Given the description of an element on the screen output the (x, y) to click on. 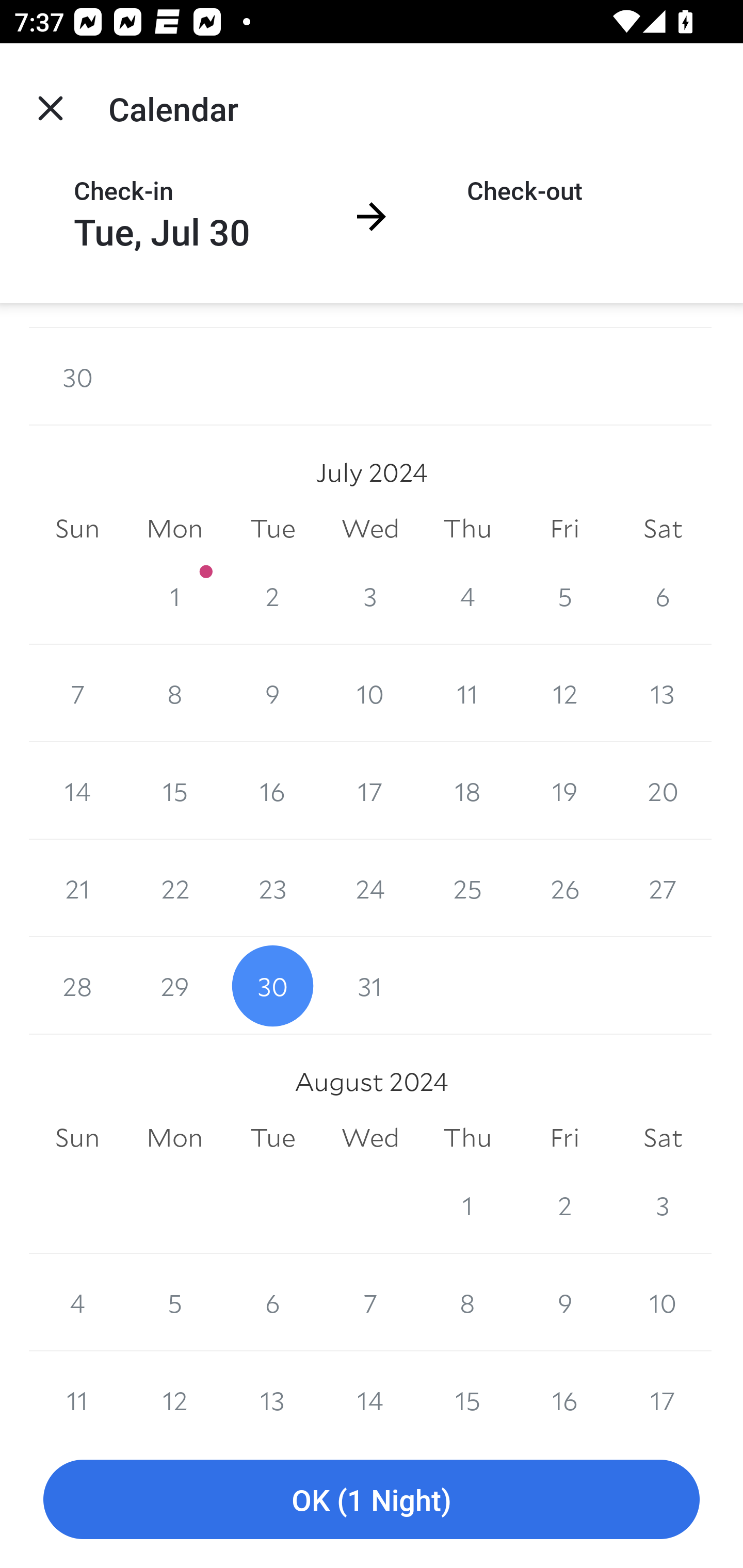
30 30 June 2024 (77, 375)
Sun (77, 528)
Mon (174, 528)
Tue (272, 528)
Wed (370, 528)
Thu (467, 528)
Fri (564, 528)
Sat (662, 528)
1 1 July 2024 (174, 595)
2 2 July 2024 (272, 595)
3 3 July 2024 (370, 595)
4 4 July 2024 (467, 595)
5 5 July 2024 (564, 595)
6 6 July 2024 (662, 595)
7 7 July 2024 (77, 692)
8 8 July 2024 (174, 692)
9 9 July 2024 (272, 692)
10 10 July 2024 (370, 692)
11 11 July 2024 (467, 692)
12 12 July 2024 (564, 692)
13 13 July 2024 (662, 692)
14 14 July 2024 (77, 790)
15 15 July 2024 (174, 790)
16 16 July 2024 (272, 790)
17 17 July 2024 (370, 790)
18 18 July 2024 (467, 790)
19 19 July 2024 (564, 790)
20 20 July 2024 (662, 790)
21 21 July 2024 (77, 888)
22 22 July 2024 (174, 888)
23 23 July 2024 (272, 888)
24 24 July 2024 (370, 888)
25 25 July 2024 (467, 888)
26 26 July 2024 (564, 888)
27 27 July 2024 (662, 888)
28 28 July 2024 (77, 985)
29 29 July 2024 (174, 985)
30 30 July 2024 (272, 985)
31 31 July 2024 (370, 985)
Sun (77, 1138)
Mon (174, 1138)
Tue (272, 1138)
Wed (370, 1138)
Thu (467, 1138)
Fri (564, 1138)
Sat (662, 1138)
1 1 August 2024 (467, 1205)
2 2 August 2024 (564, 1205)
3 3 August 2024 (662, 1205)
